Given the description of an element on the screen output the (x, y) to click on. 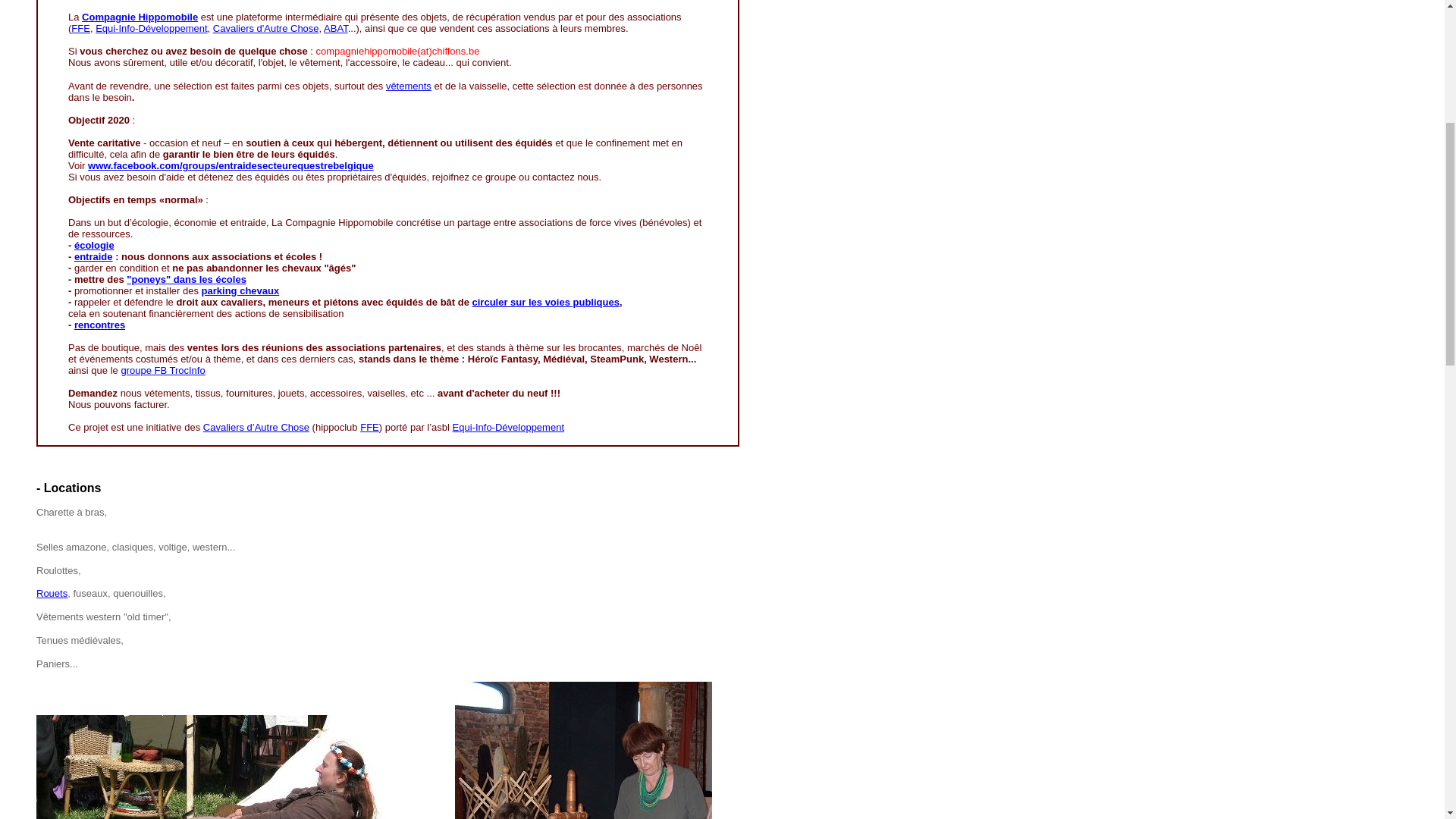
parking chevaux Element type: text (240, 666)
photos Element type: text (758, 201)
casting Element type: text (423, 201)
hippocantoniers Element type: text (830, 201)
circuler sur les voies publiques Element type: text (545, 678)
FFE Element type: text (80, 404)
www.ffe.be Element type: text (199, 251)
tarif Element type: text (982, 201)
FFE Element type: text (369, 803)
www.info-coronavirus.be Element type: text (259, 240)
rencontres Element type: text (99, 700)
Ventes Element type: text (183, 302)
ABAT Element type: text (335, 404)
accessoires Element type: text (697, 201)
Cavaliers d'Autre Chose Element type: text (266, 404)
www.facebook.com/groups/entraidesecteurequestrebelgique Element type: text (230, 541)
groupe FB TrocInfo Element type: text (162, 746)
liens/adresses Element type: text (922, 201)
Compagnie Hippomobile Element type: text (139, 392)
Location Element type: text (141, 302)
entraide Element type: text (93, 632)
